Given the description of an element on the screen output the (x, y) to click on. 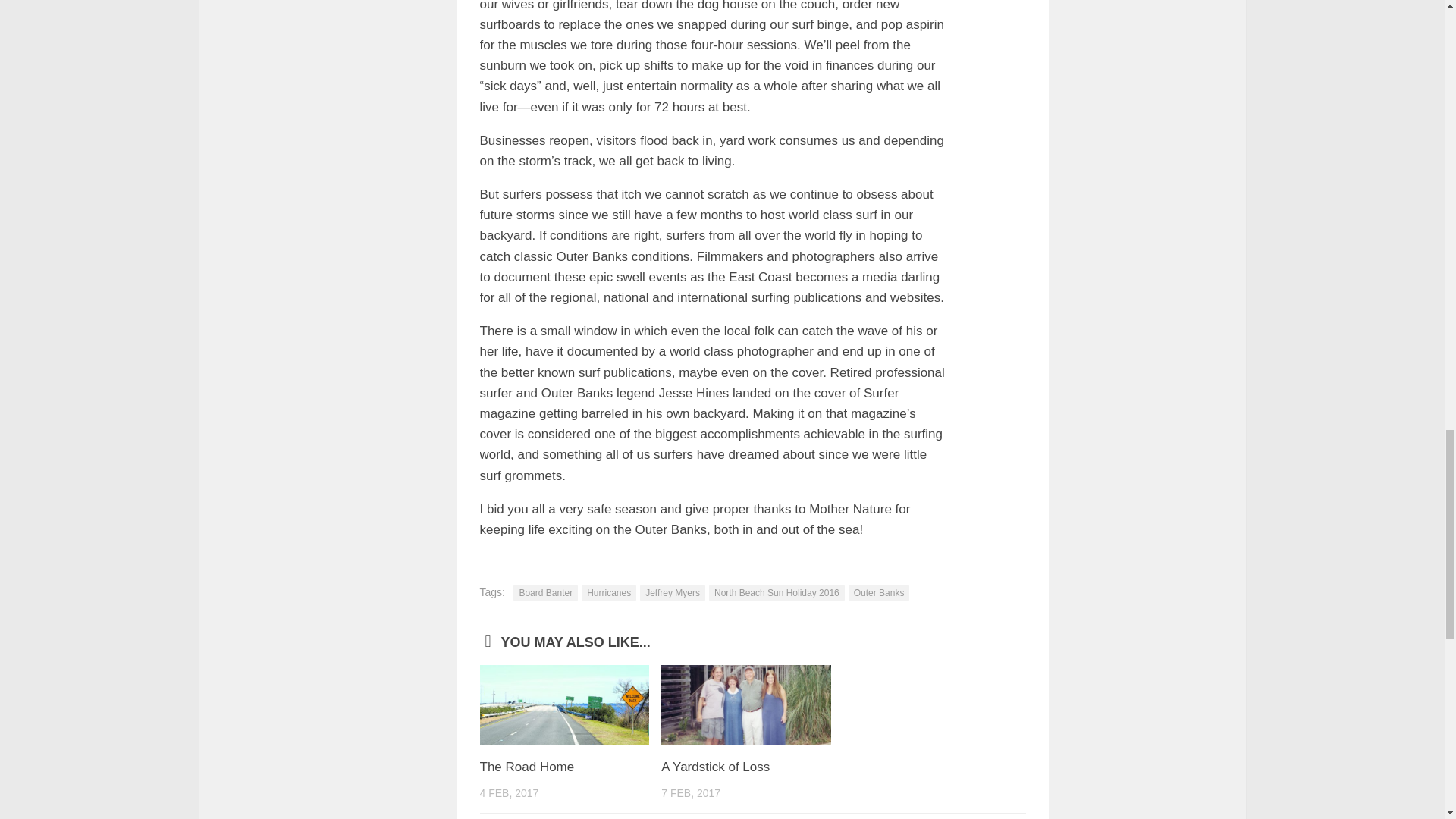
Jeffrey Myers (672, 592)
A Yardstick of Loss (715, 766)
Hurricanes (608, 592)
The Road Home (564, 704)
The Road Home (526, 766)
Outer Banks (879, 592)
North Beach Sun Holiday 2016 (776, 592)
The Road Home (526, 766)
Board Banter (545, 592)
A Yardstick of Loss (715, 766)
A Yardstick of Loss (746, 704)
